Given the description of an element on the screen output the (x, y) to click on. 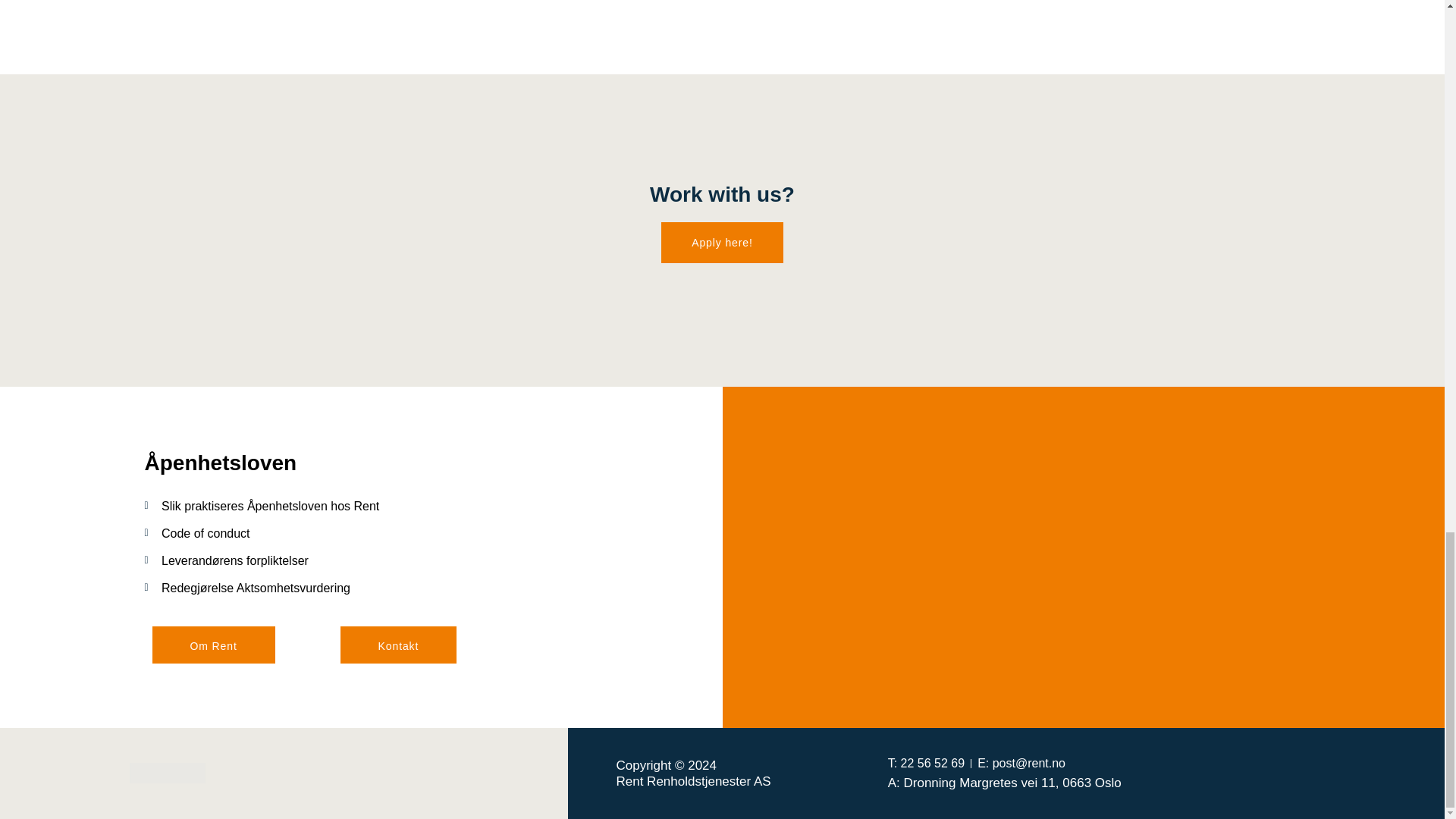
A: Dronning Margretes vei 11, 0663 Oslo (1004, 782)
Kontakt (398, 644)
Om Rent (213, 644)
T: 22 56 52 69 (925, 763)
Apply here! (722, 241)
Code of conduct (396, 533)
